Given the description of an element on the screen output the (x, y) to click on. 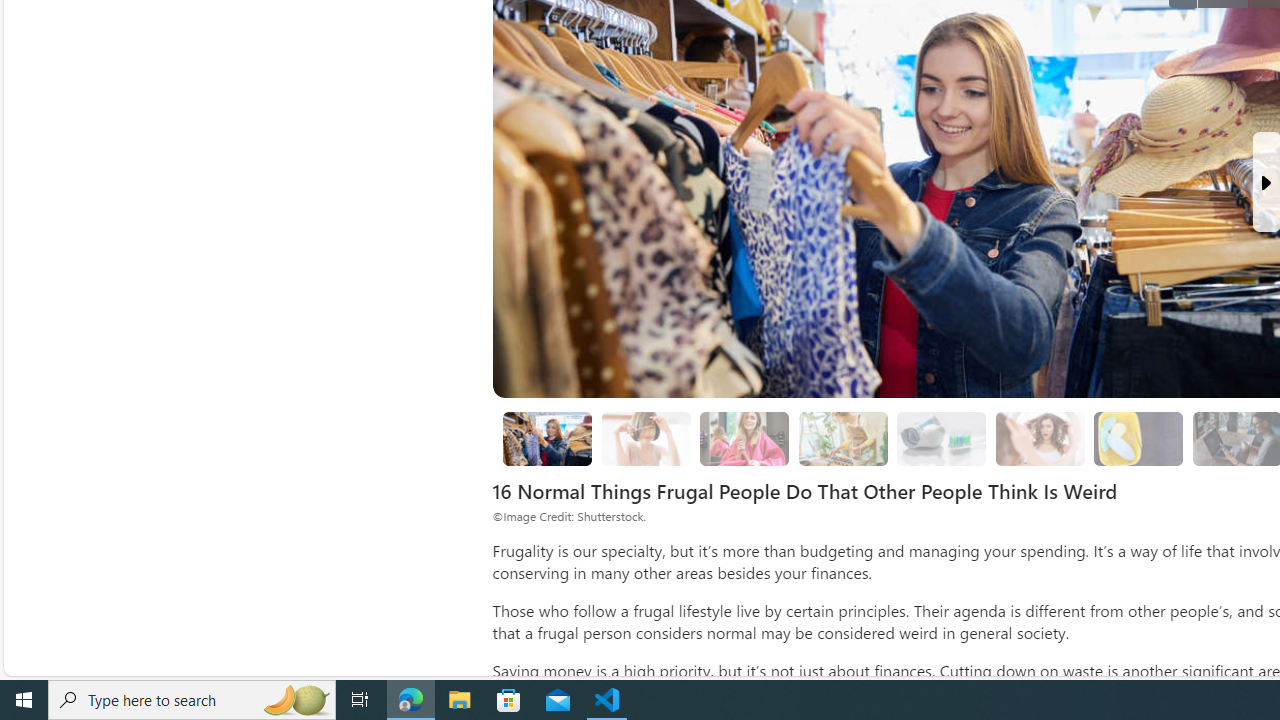
8. Thrift Shopping (546, 439)
6. Soap Saving (1139, 438)
3. Growing From Seeds (843, 439)
5. Not Washing Hair (1039, 439)
4. Cutting the Bottom off the Toothpaste Tube (941, 438)
5. Not Washing Hair (1039, 438)
8. Thrift Shopping (547, 438)
4. Cutting the Bottom off the Toothpaste Tube (941, 439)
1. Cutting Hair (646, 439)
2. Donating Hair (743, 439)
3. Growing From Seeds (842, 438)
6. Soap Saving (1138, 439)
1. Cutting Hair (646, 438)
Class: progress (1138, 435)
2. Donating Hair (744, 438)
